Given the description of an element on the screen output the (x, y) to click on. 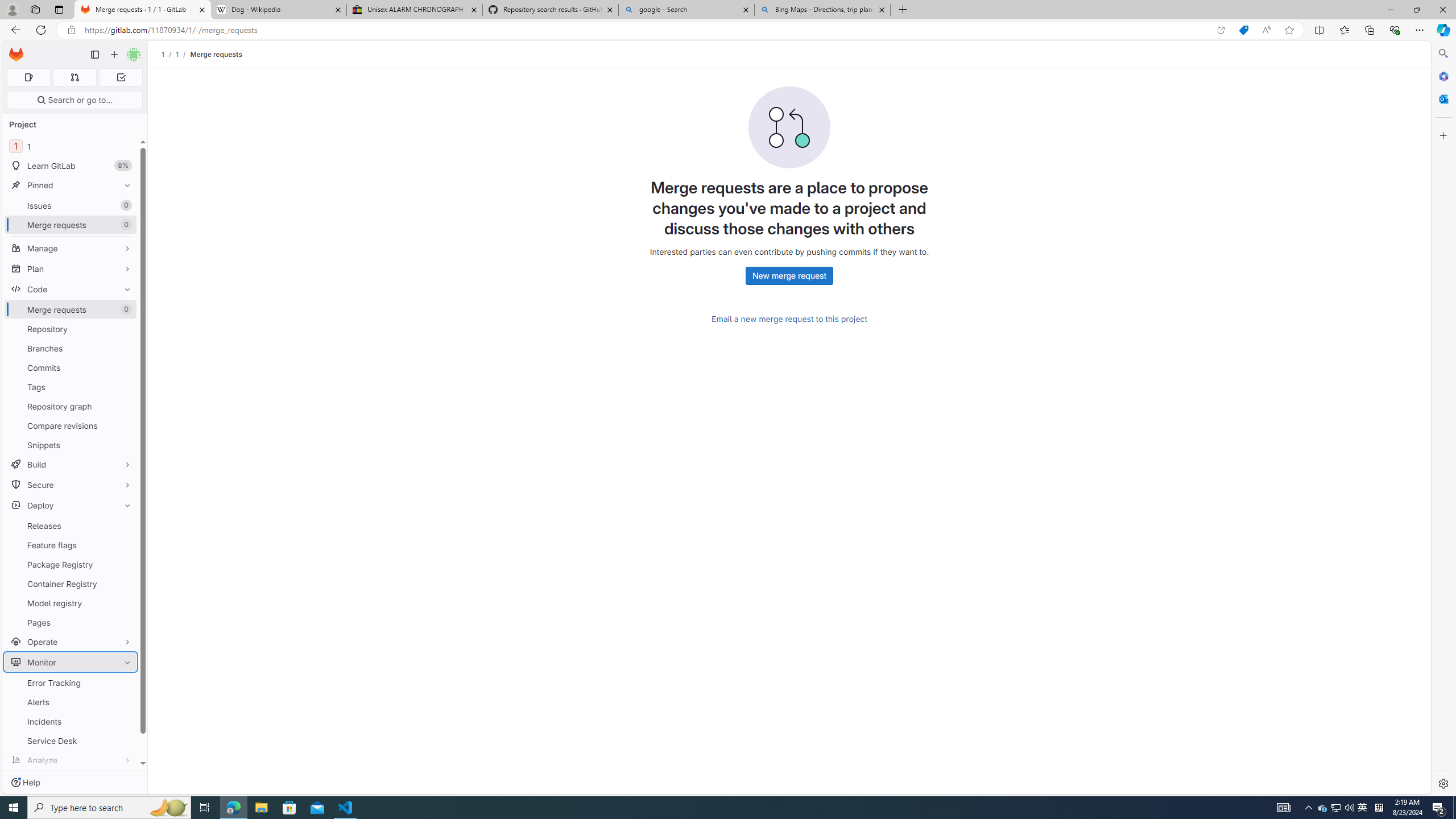
Incidents (70, 720)
Repository graph (70, 406)
Model registry (70, 602)
Deploy (70, 505)
Commits (70, 367)
Assigned issues 0 (28, 76)
1 (177, 53)
1 1 (70, 145)
Incidents (70, 720)
Operate (70, 641)
